Given the description of an element on the screen output the (x, y) to click on. 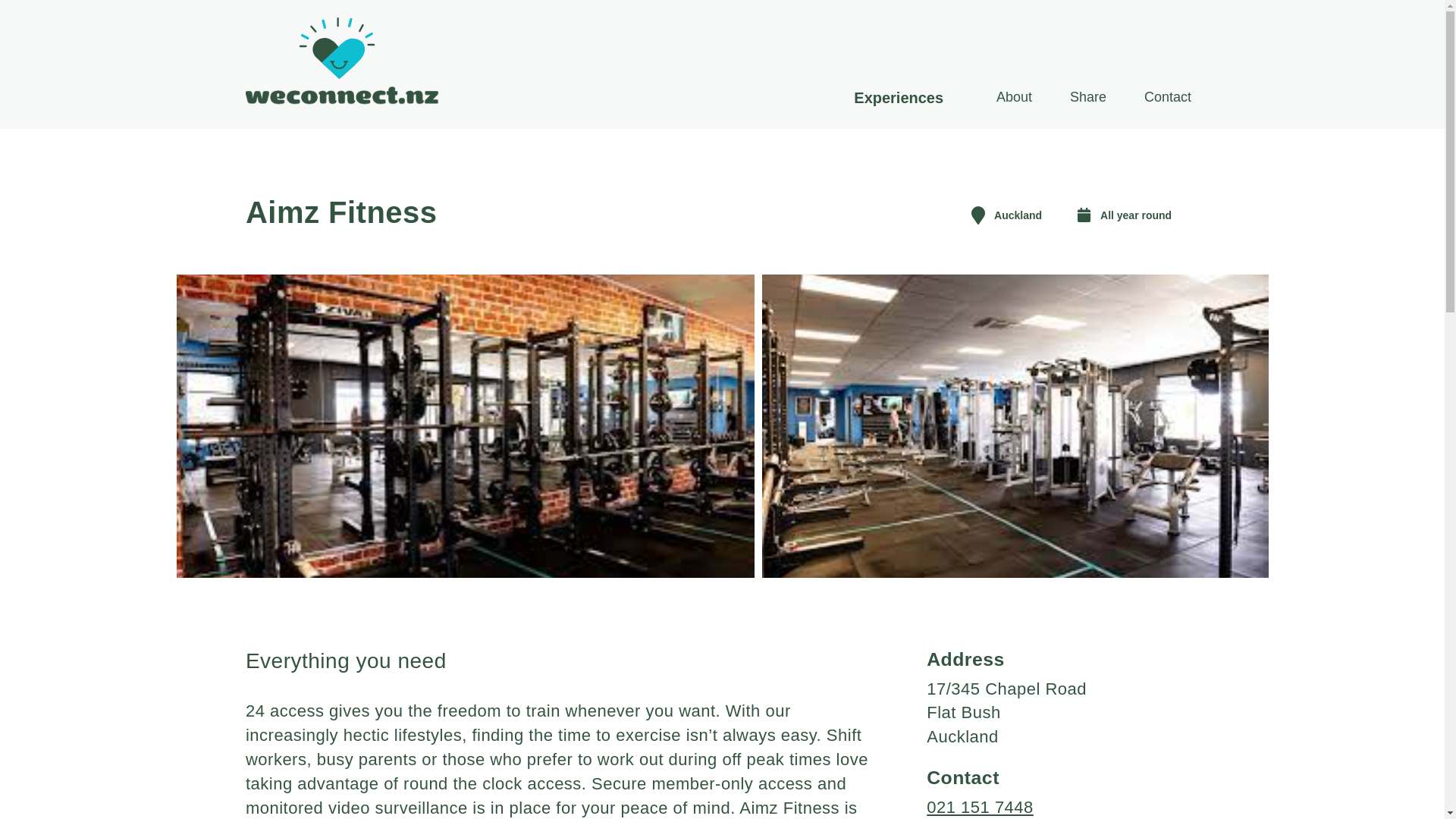
021 151 7448 (979, 806)
About (1013, 97)
Share (1087, 97)
Contact (1167, 97)
Experiences (897, 97)
